Given the description of an element on the screen output the (x, y) to click on. 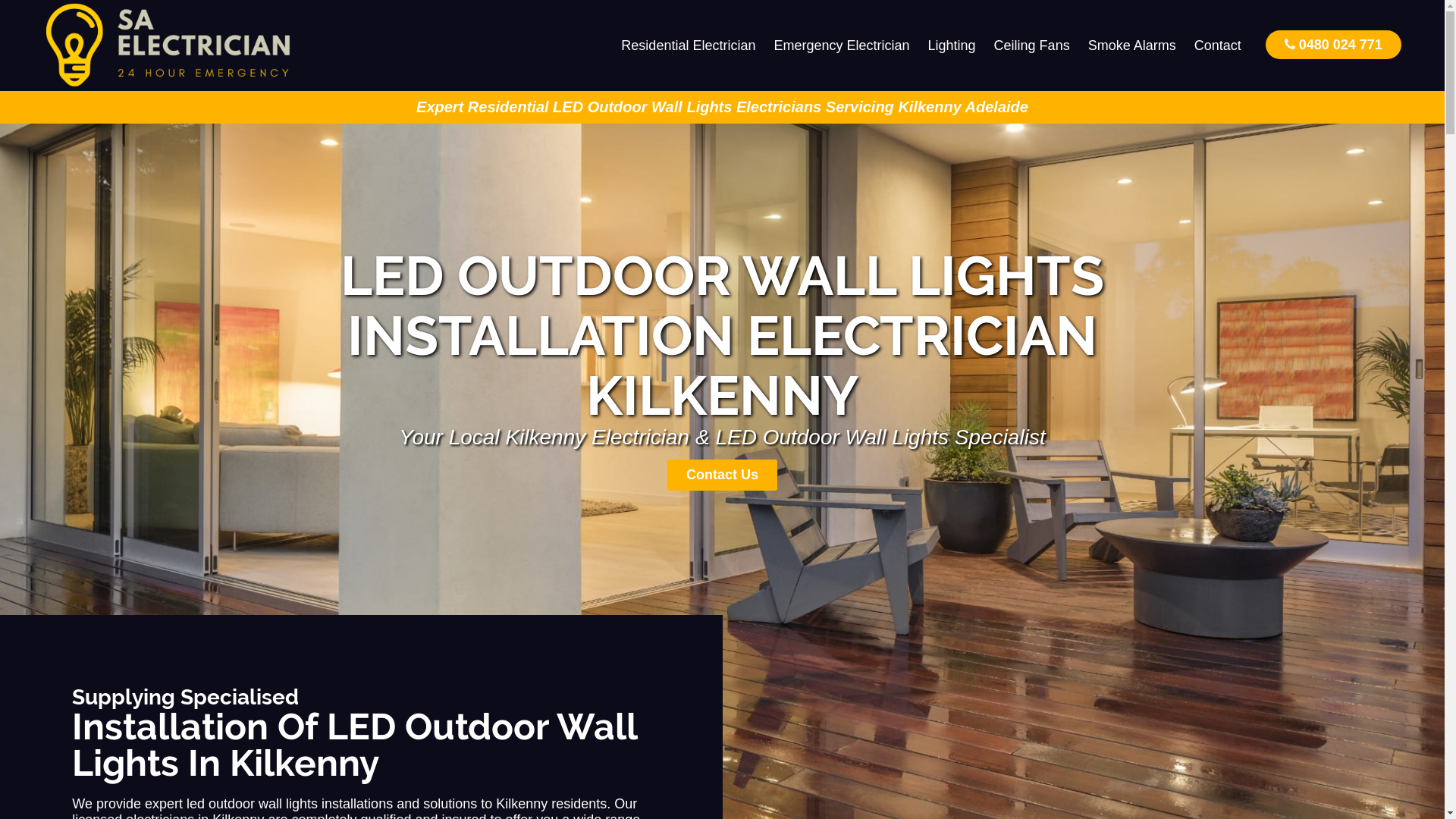
0480 024 771 Element type: text (1333, 44)
Ceiling Fans Element type: text (1032, 45)
Contact Element type: text (1217, 45)
Residential Electrician Element type: text (687, 45)
Emergency Electrician Element type: text (841, 45)
Smoke Alarms Element type: text (1132, 45)
Lighting Element type: text (952, 45)
Contact Us Element type: text (722, 474)
